Given the description of an element on the screen output the (x, y) to click on. 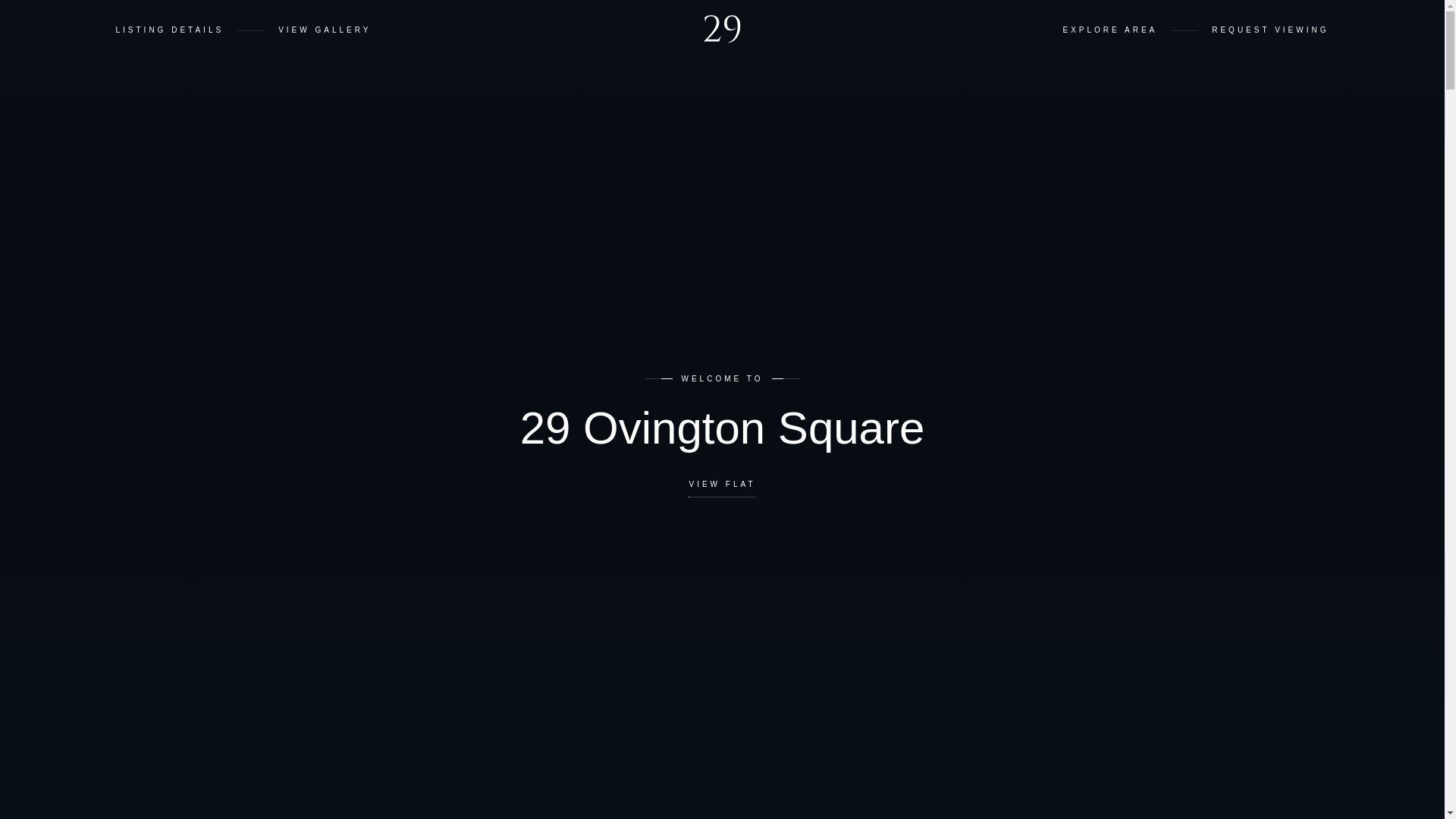
LISTING DETAILS Element type: text (169, 29)
EXPLORE AREA Element type: text (1110, 29)
VIEW FLAT Element type: text (721, 488)
REQUEST VIEWING Element type: text (1269, 29)
VIEW GALLERY Element type: text (324, 29)
